Given the description of an element on the screen output the (x, y) to click on. 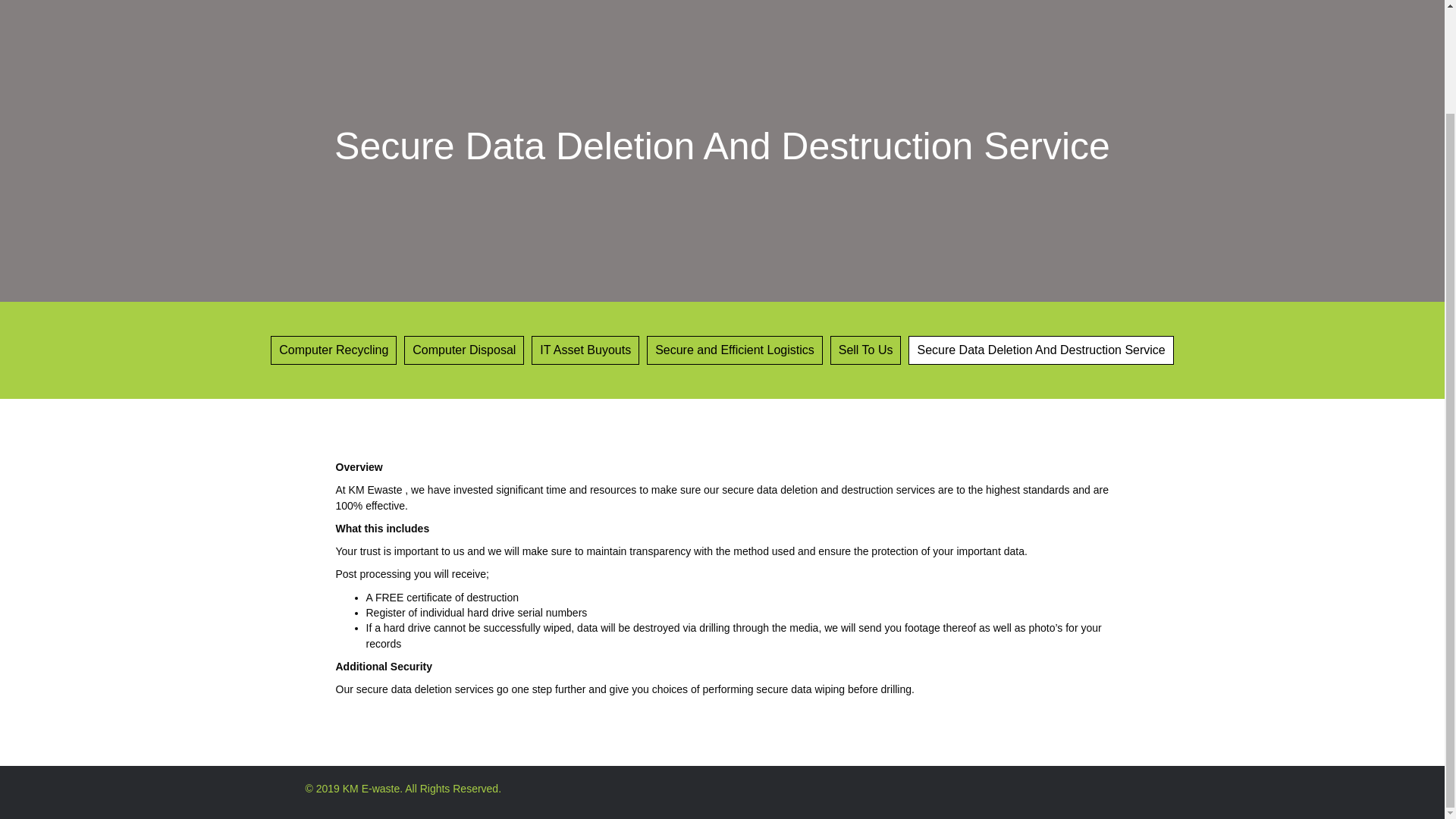
IT Asset Buyouts (585, 349)
Secure and Efficient Logistics (734, 349)
Secure Data Deletion And Destruction Service (1040, 349)
Computer Disposal (464, 349)
Sell To Us (865, 349)
Computer Recycling (333, 349)
